Given the description of an element on the screen output the (x, y) to click on. 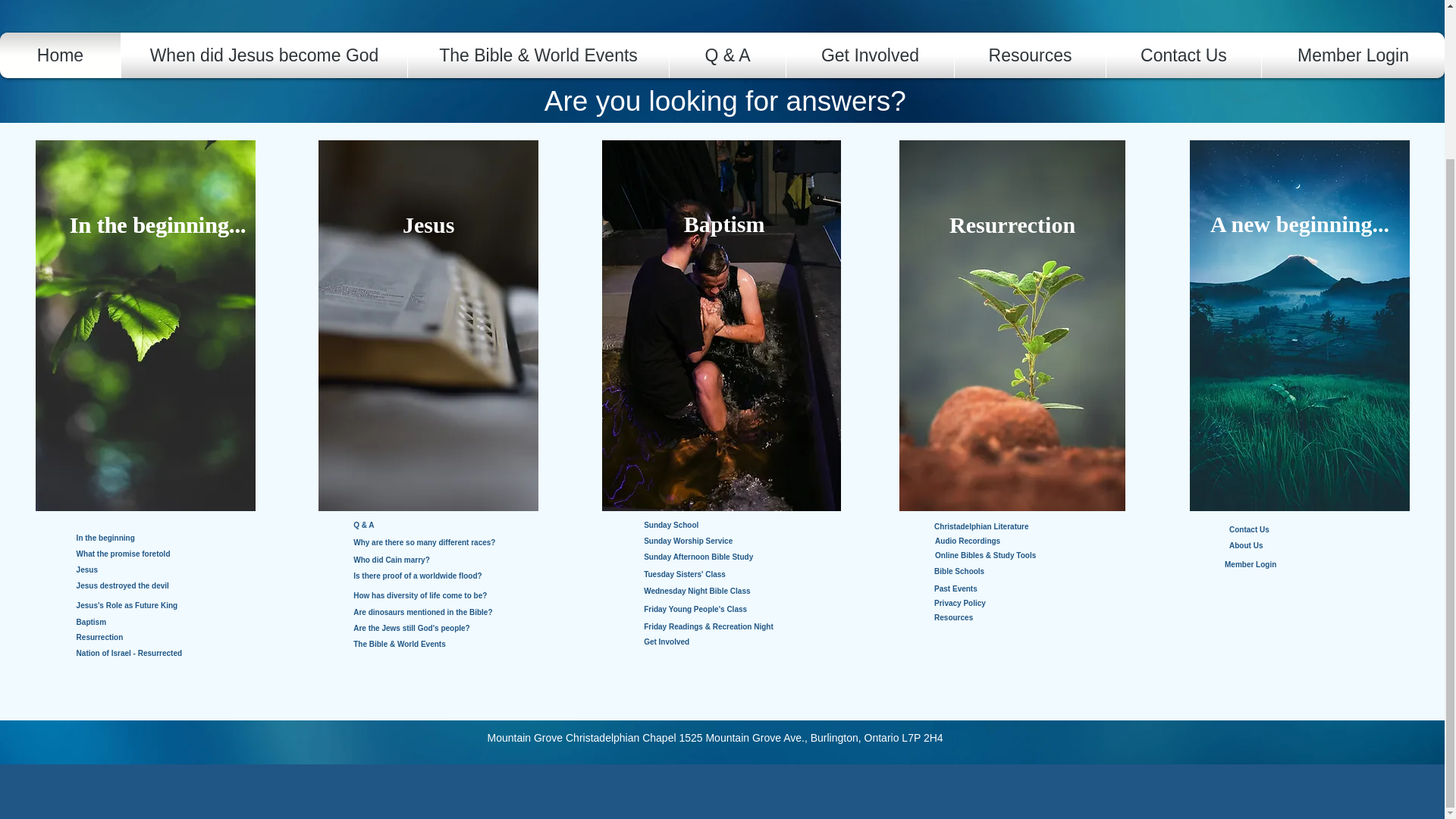
What the promise foretold (137, 553)
In the beginning... (158, 224)
Jesus destroyed the devil (136, 586)
Member Login (1353, 54)
Home (60, 54)
Resources (1030, 54)
Resurrection (130, 636)
Why are there so many different races? (456, 542)
Baptism (130, 622)
When did Jesus become God (264, 54)
Jesus (427, 224)
Jesus's Role as Future King (142, 606)
Contact Us (1183, 54)
In the beginning (130, 537)
Get Involved (870, 54)
